Given the description of an element on the screen output the (x, y) to click on. 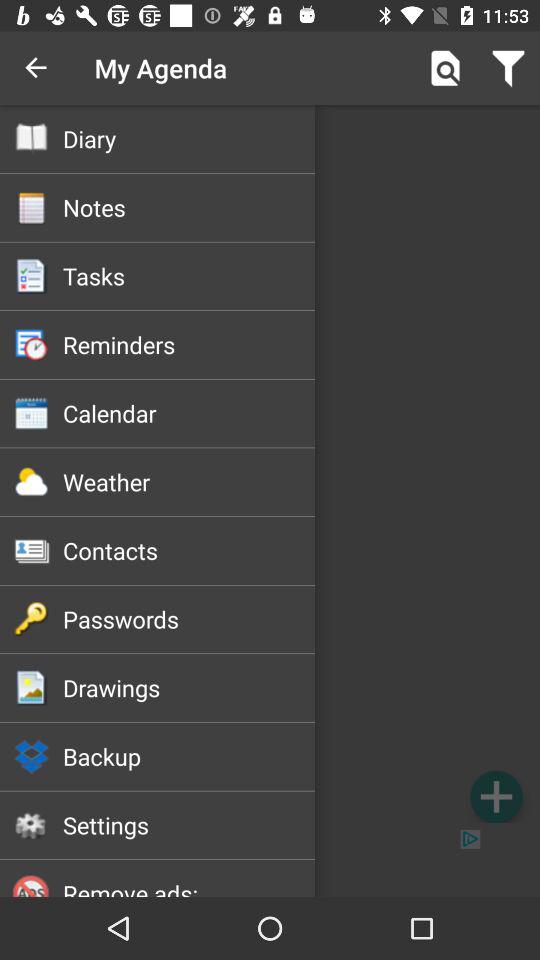
press item next to the my agenda (444, 67)
